Given the description of an element on the screen output the (x, y) to click on. 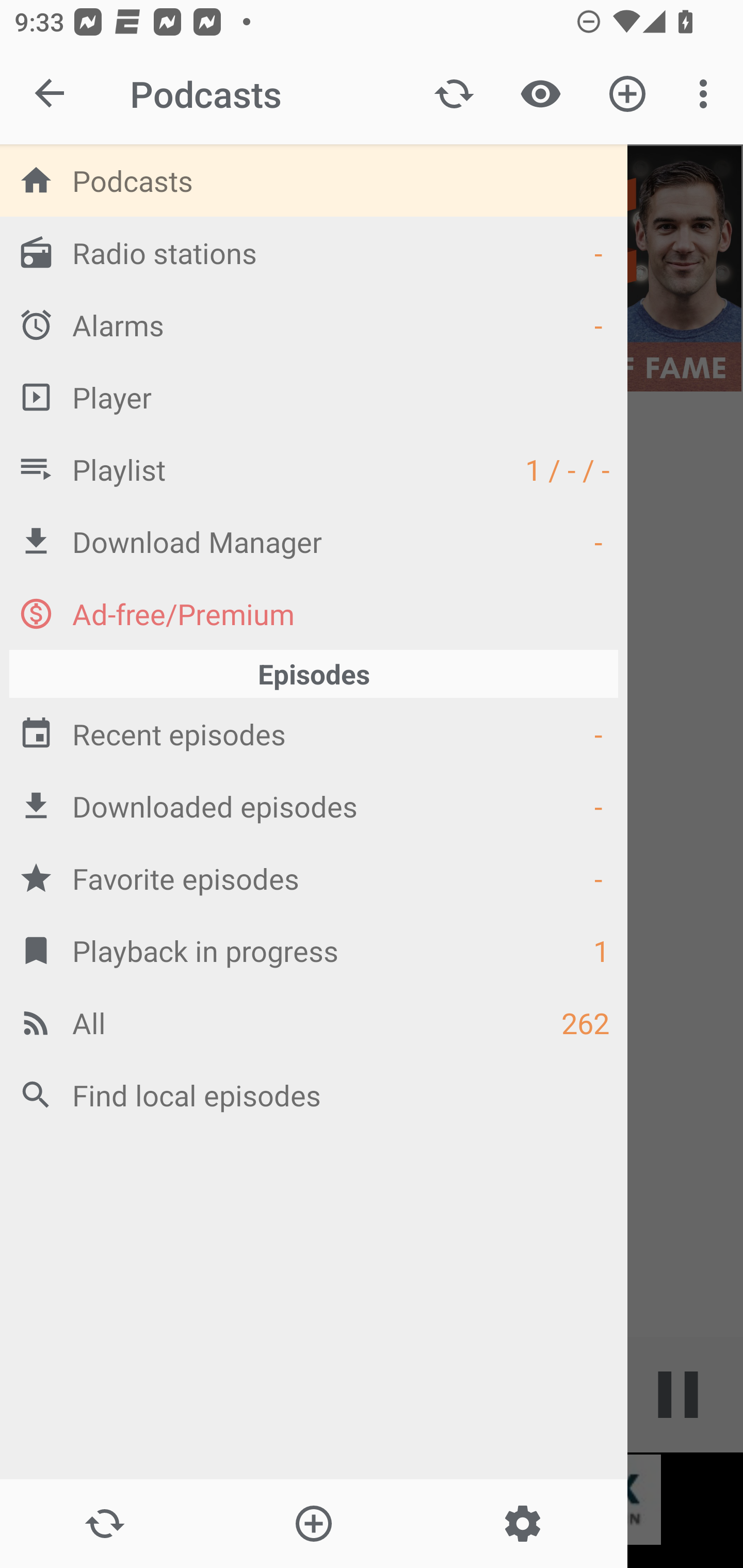
Close navigation sidebar (50, 93)
Update (453, 93)
Show / Hide played content (540, 93)
Add new Podcast (626, 93)
More options (706, 93)
Podcasts (313, 180)
Radio stations  -  (313, 252)
Alarms  -  (313, 324)
Player (313, 396)
Playlist 1 / - / - (313, 468)
Download Manager  -  (313, 540)
Ad-free/Premium (313, 613)
Recent episodes  -  (313, 733)
Downloaded episodes  -  (313, 805)
Favorite episodes  -  (313, 878)
Playback in progress 1 (313, 950)
All 262 (313, 1022)
Find local episodes (313, 1094)
Update (104, 1523)
Add new Podcast (312, 1523)
Settings (522, 1523)
